Given the description of an element on the screen output the (x, y) to click on. 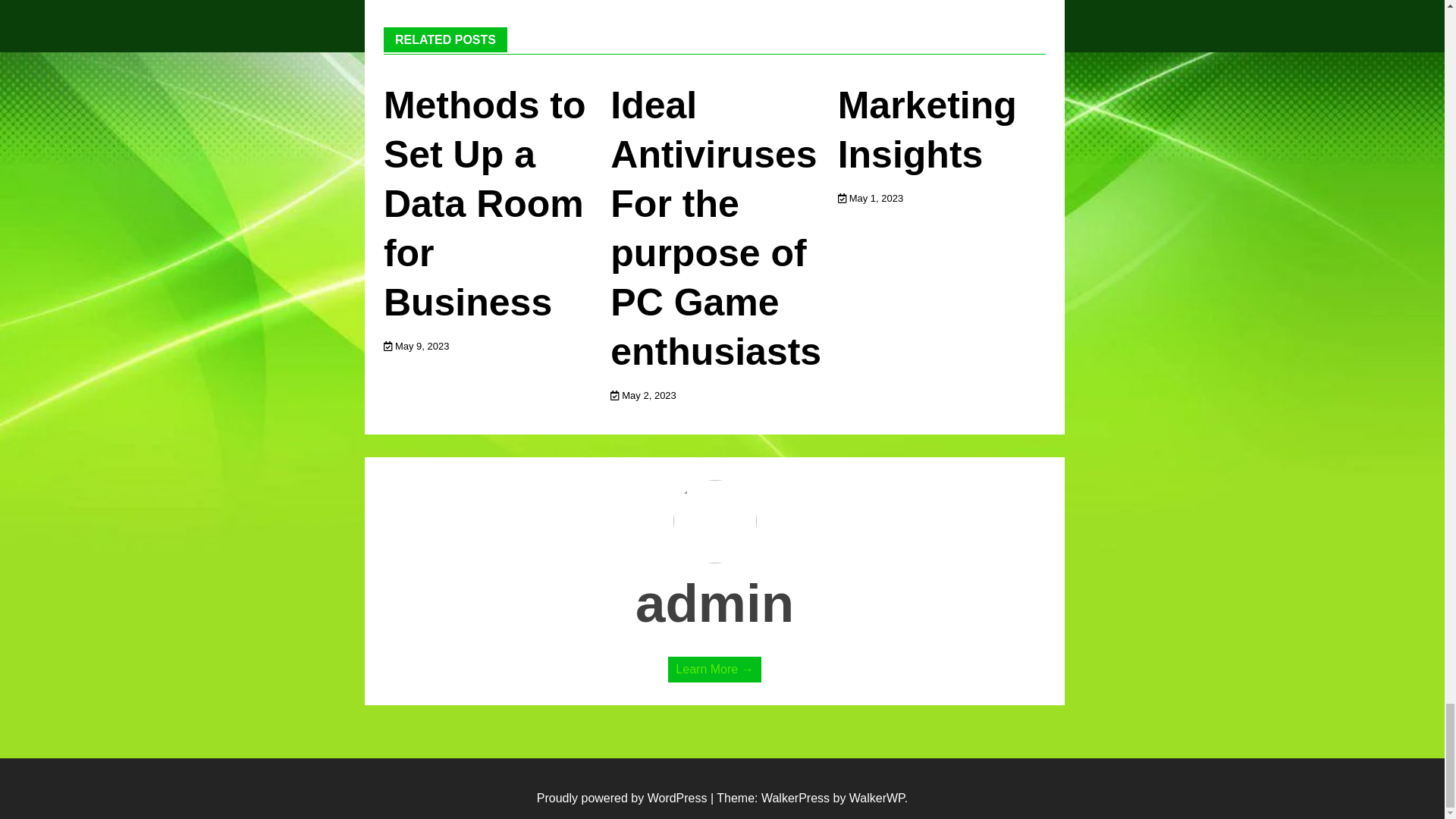
May 9, 2023 (416, 346)
May 2, 2023 (643, 395)
